Given the description of an element on the screen output the (x, y) to click on. 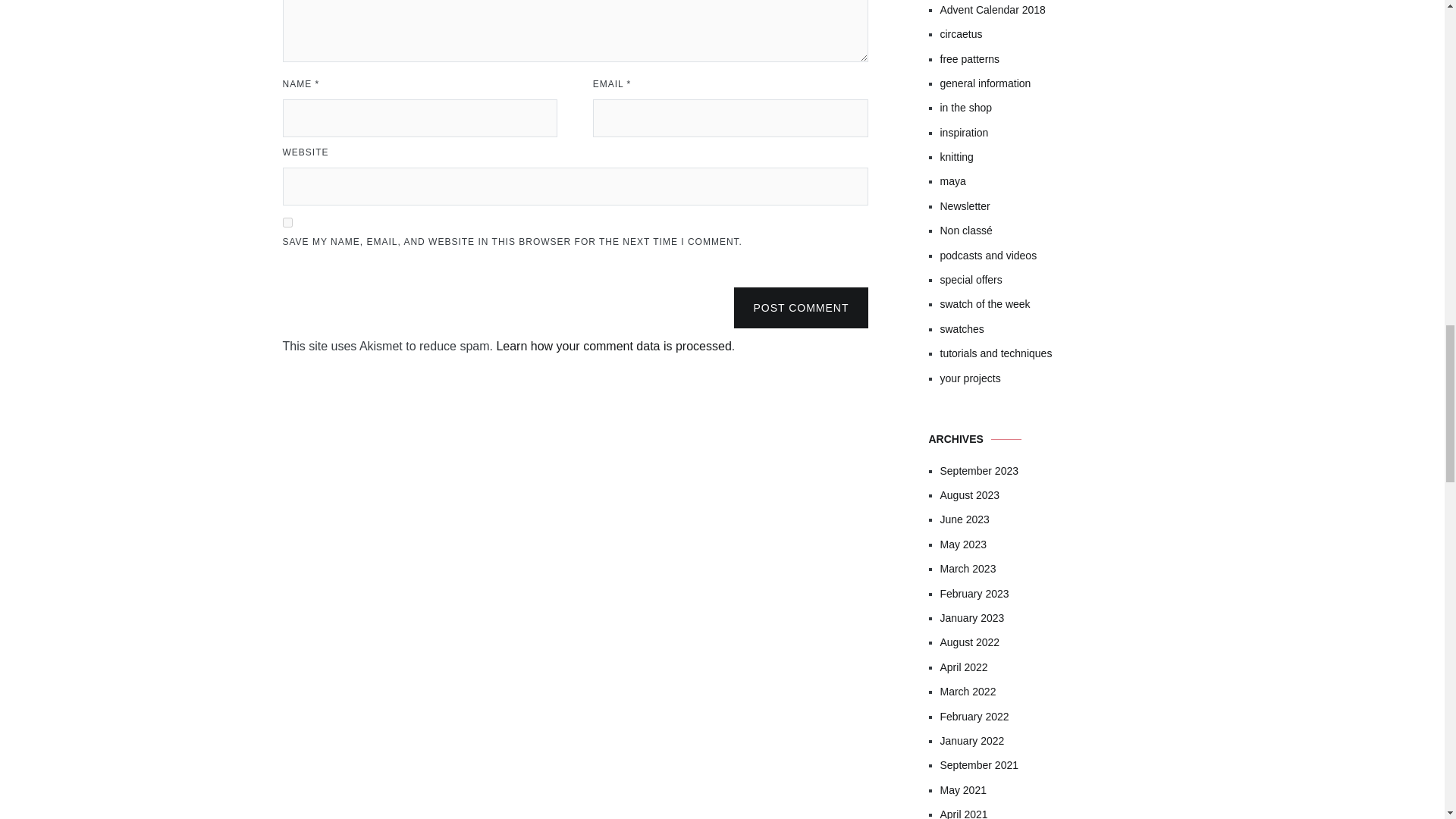
Learn how your comment data is processed (613, 345)
POST COMMENT (800, 307)
yes (287, 221)
